Given the description of an element on the screen output the (x, y) to click on. 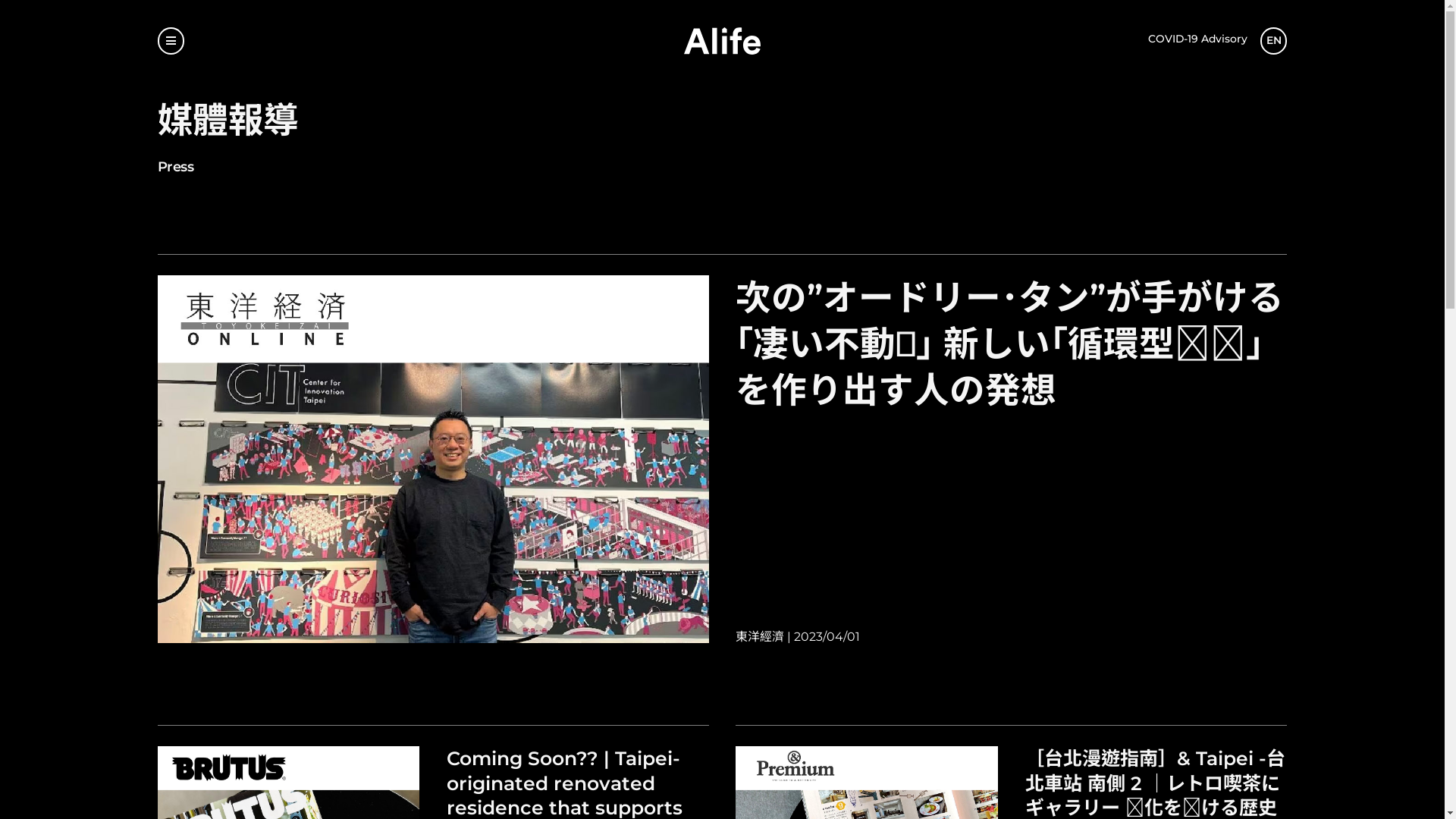
Alife Element type: text (721, 40)
EN Element type: text (1273, 40)
